Given the description of an element on the screen output the (x, y) to click on. 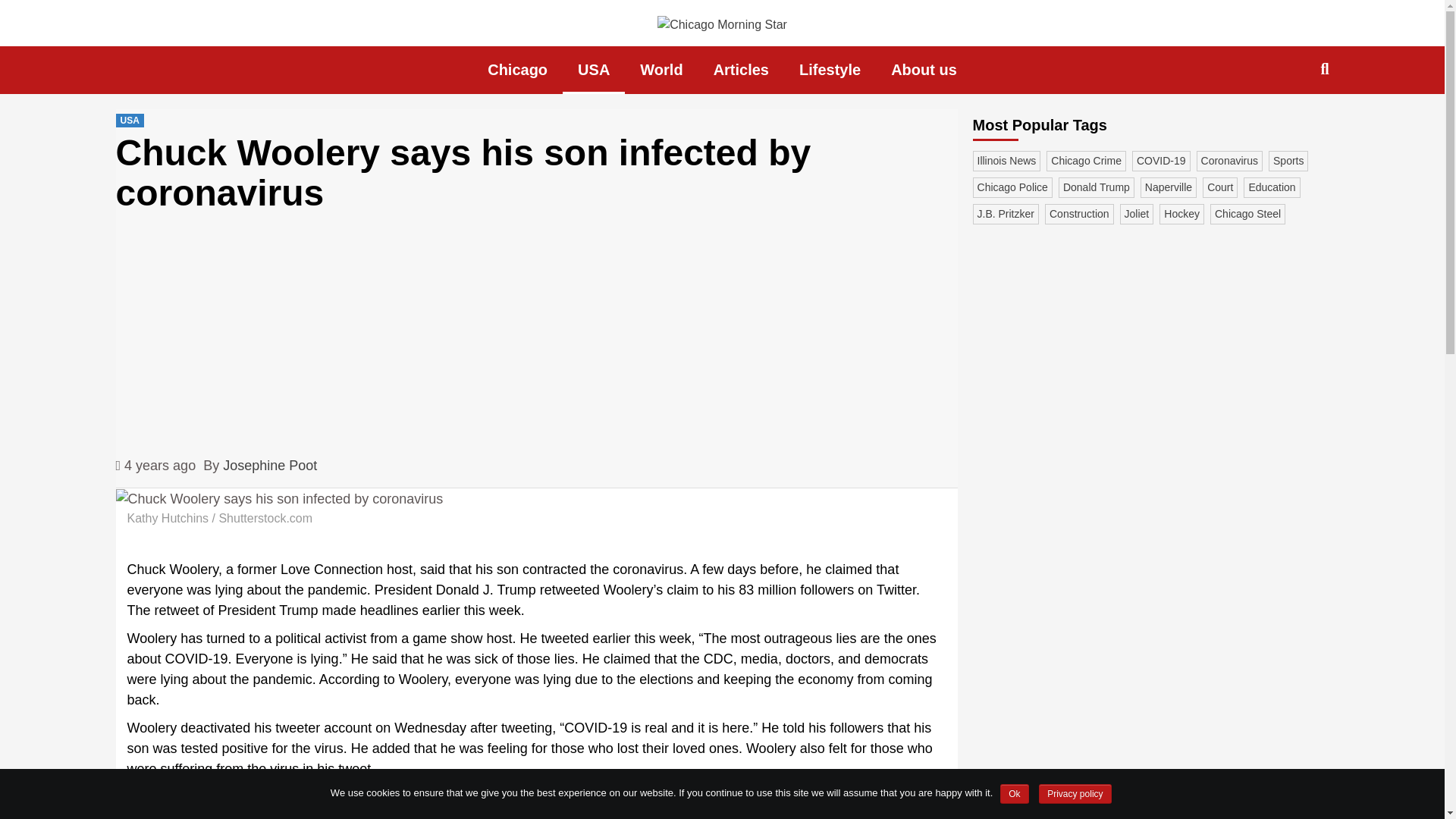
USA (593, 69)
About us (924, 69)
World (660, 69)
USA (128, 120)
Lifestyle (830, 69)
Josephine Poot (269, 465)
Chicago Morning Star (390, 60)
Articles (741, 69)
Chicago (516, 69)
